Given the description of an element on the screen output the (x, y) to click on. 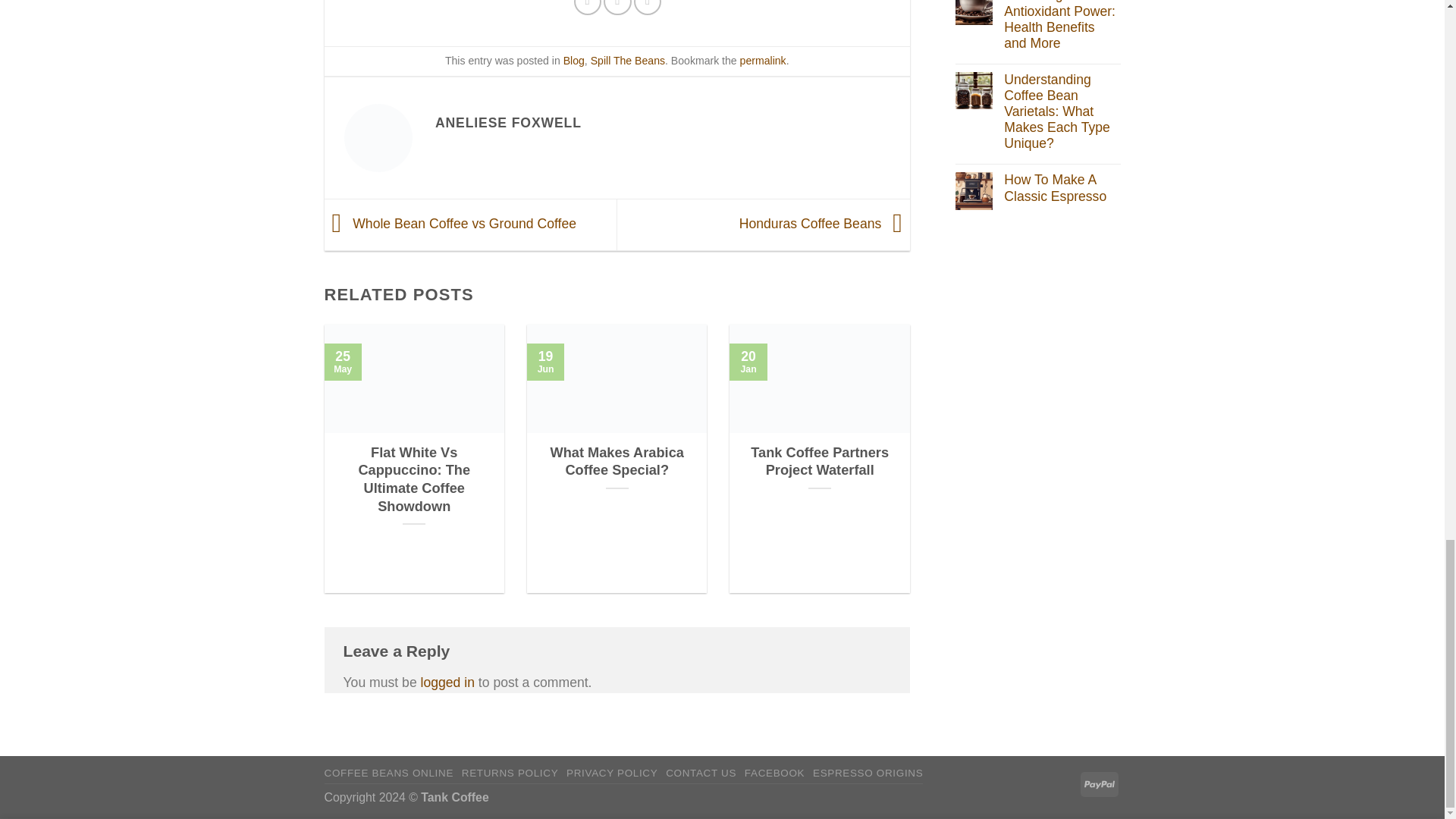
Share on Facebook (587, 7)
Permalink to How to Cup Coffee (762, 60)
Spill The Beans (628, 60)
Share on Twitter (617, 7)
Pin on Pinterest (647, 7)
How To Make A Classic Espresso (1061, 187)
Blog (574, 60)
